Given the description of an element on the screen output the (x, y) to click on. 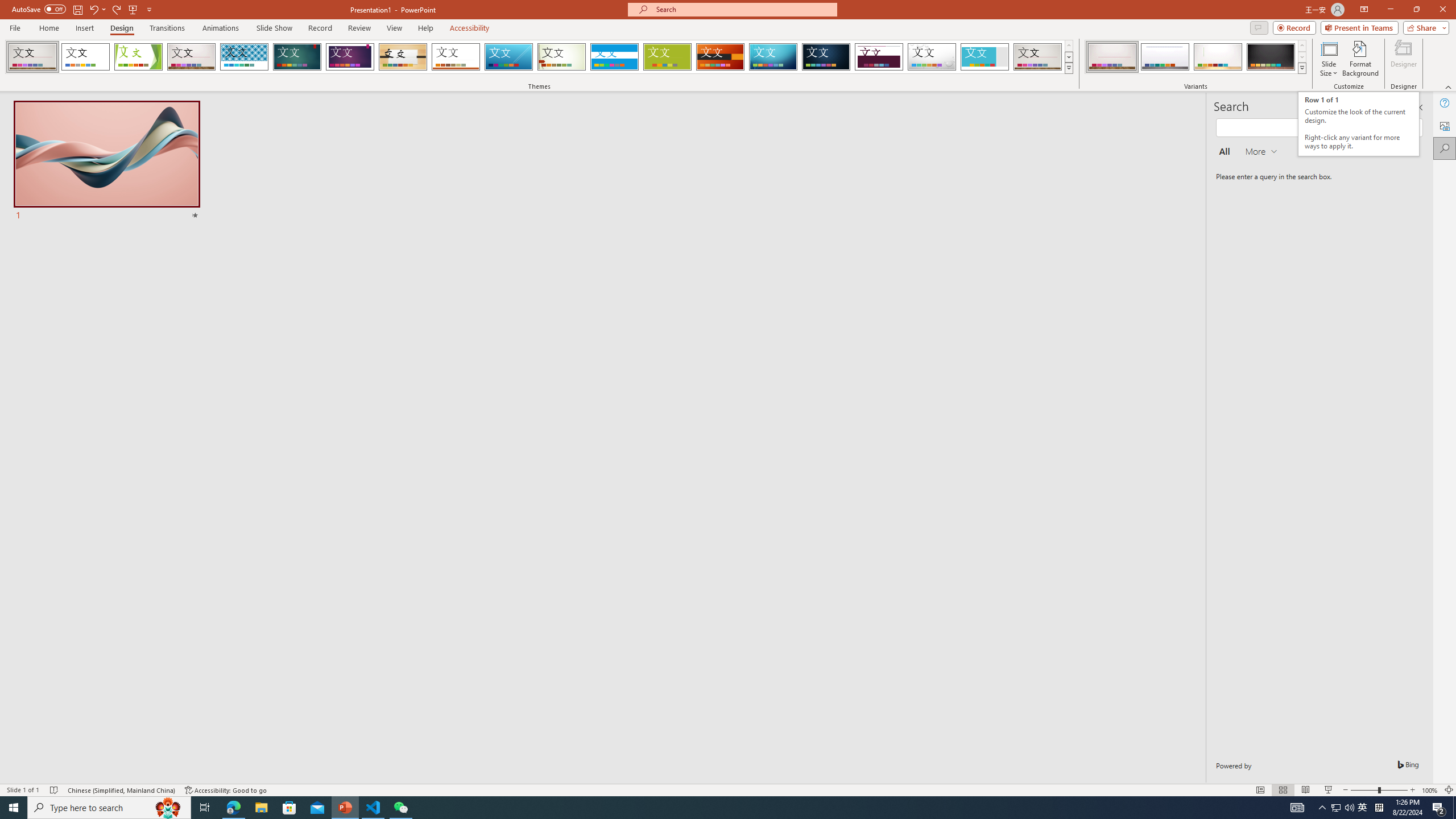
Gallery Variant 4 (1270, 56)
